Given the description of an element on the screen output the (x, y) to click on. 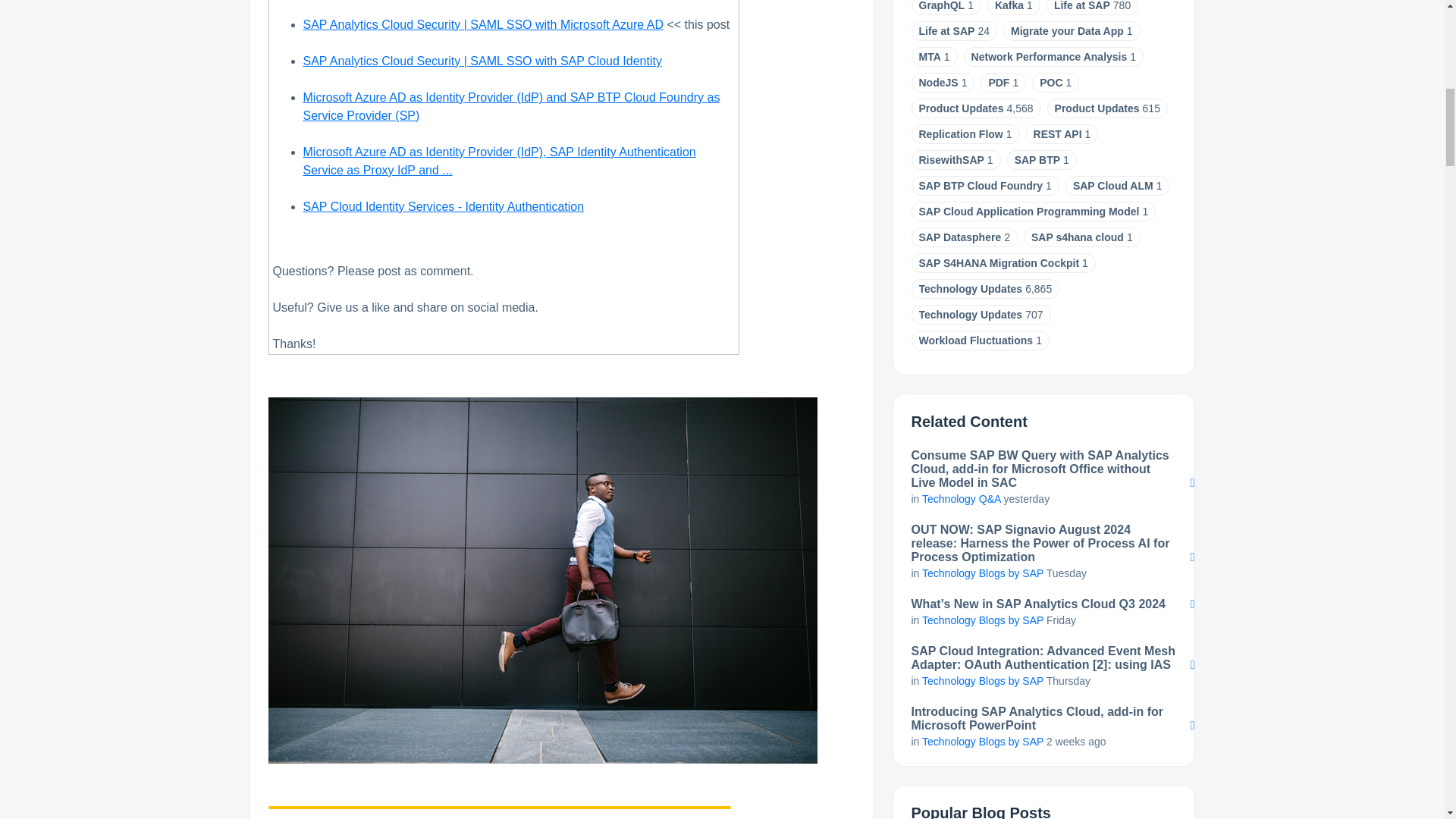
SAP Cloud Identity Services - Identity Authentication (443, 205)
